Given the description of an element on the screen output the (x, y) to click on. 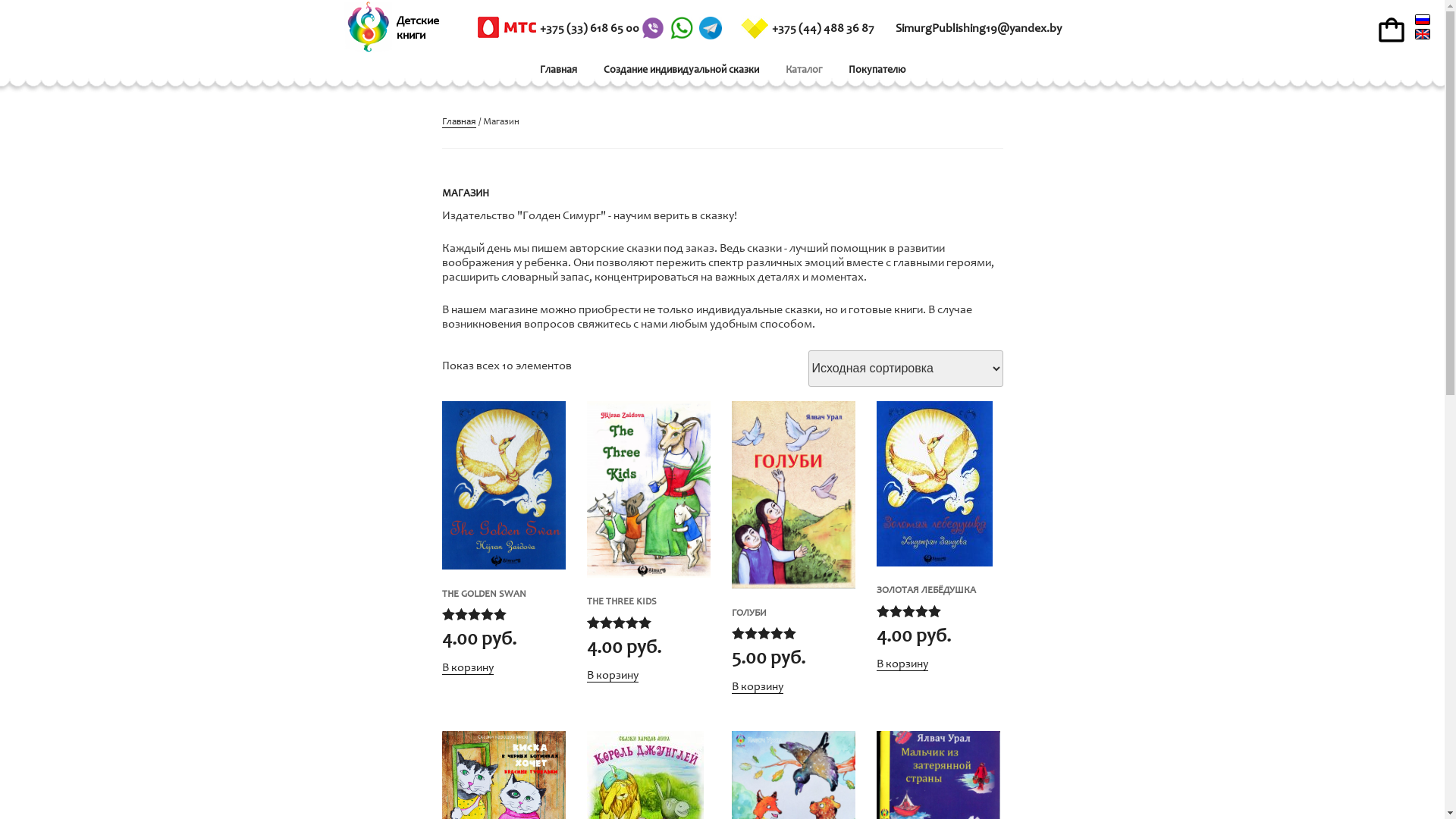
+375 (33) 618 65 00 Element type: text (558, 28)
SimurgPublishing19@yandex.by Element type: text (978, 28)
+375 (44) 488 36 87 Element type: text (807, 28)
